Given the description of an element on the screen output the (x, y) to click on. 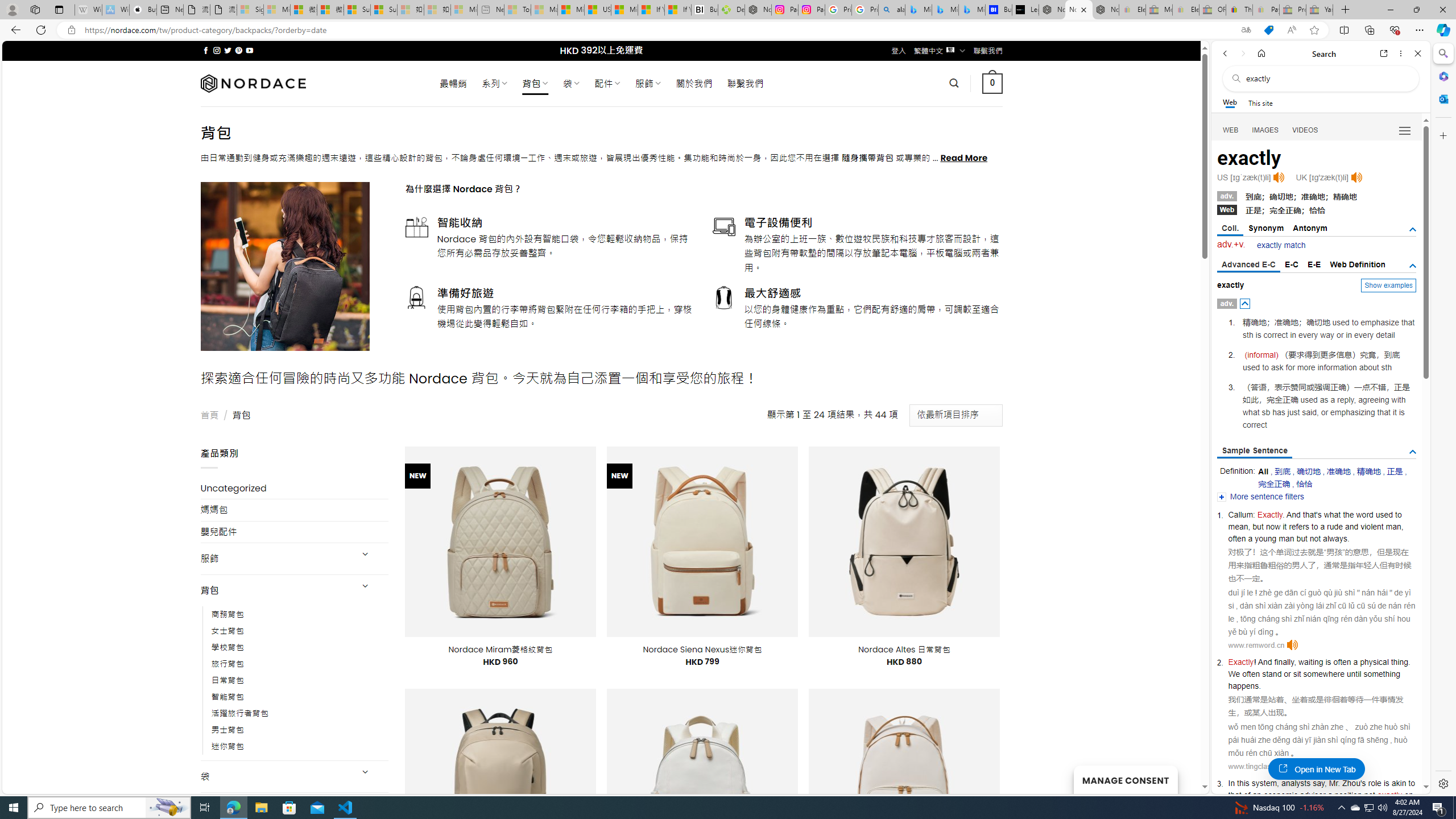
an (1256, 794)
Search Filter, VIDEOS (1304, 129)
man (1286, 537)
Follow on Twitter (227, 50)
Search Filter, WEB (1231, 129)
Marine life - MSN - Sleeping (543, 9)
